Given the description of an element on the screen output the (x, y) to click on. 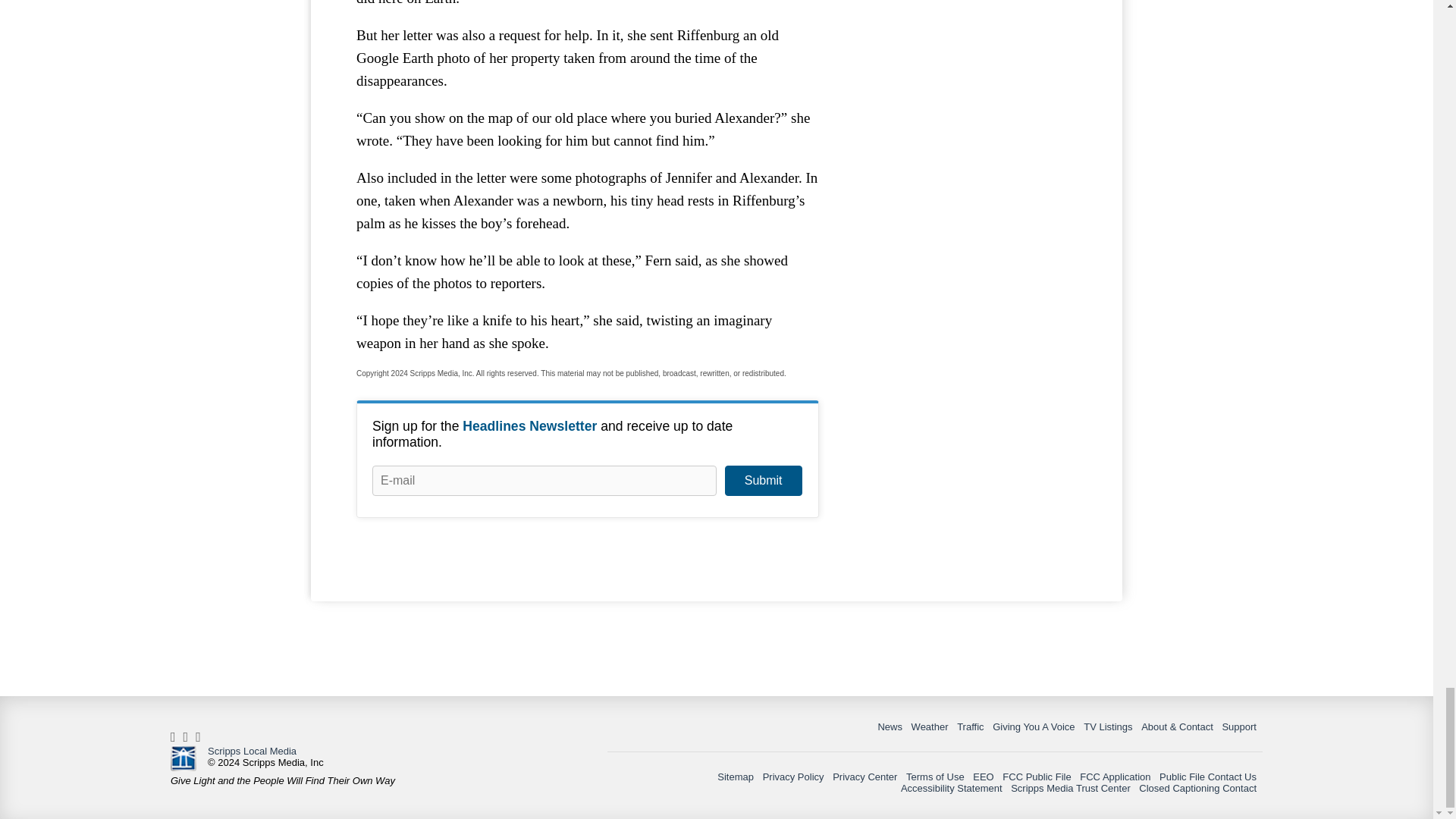
Submit (763, 481)
